Given the description of an element on the screen output the (x, y) to click on. 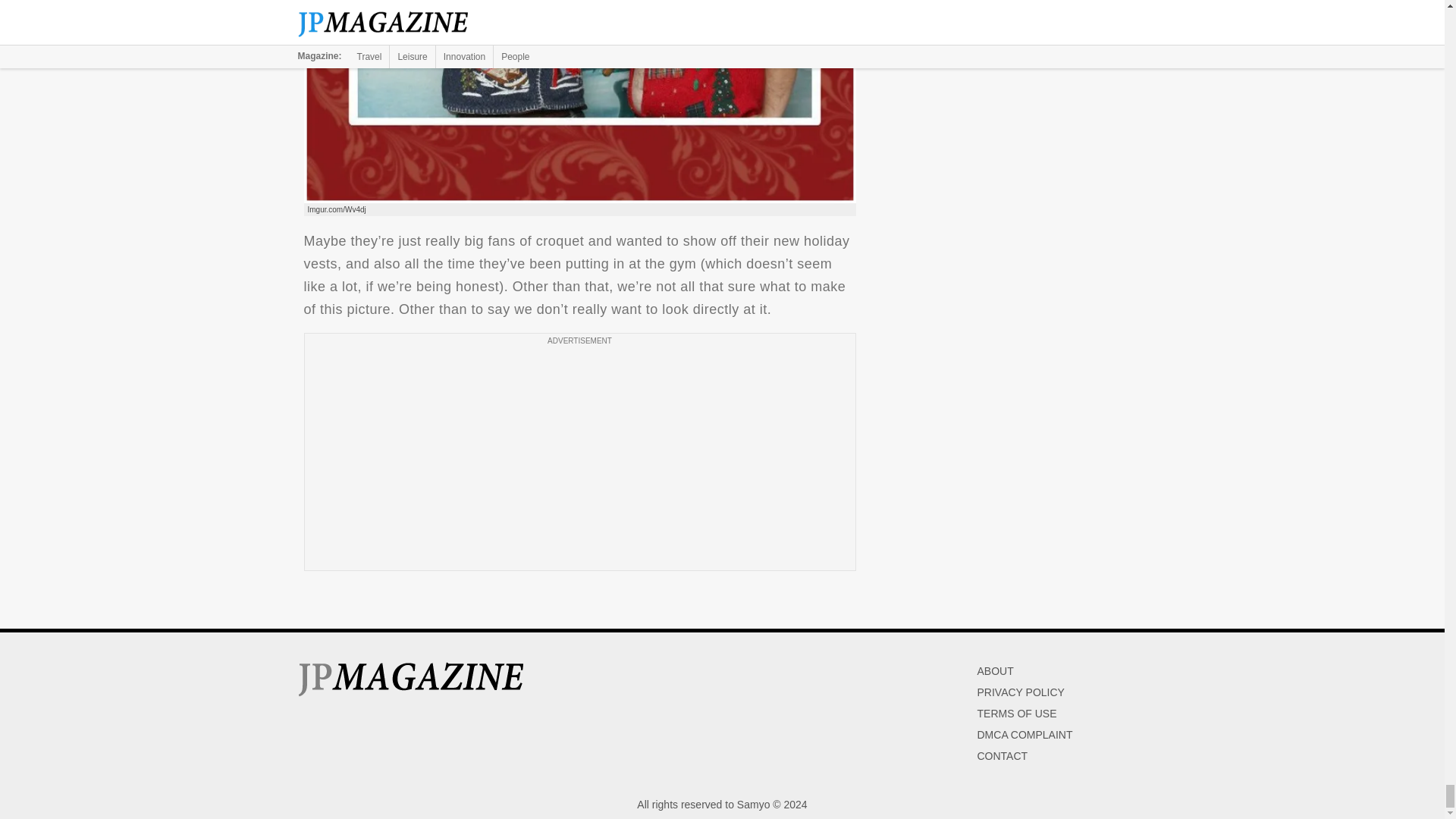
TERMS OF USE (1016, 713)
CONTACT (1001, 756)
DMCA COMPLAINT (1023, 734)
PRIVACY POLICY (1020, 692)
ABOUT (994, 671)
